Given the description of an element on the screen output the (x, y) to click on. 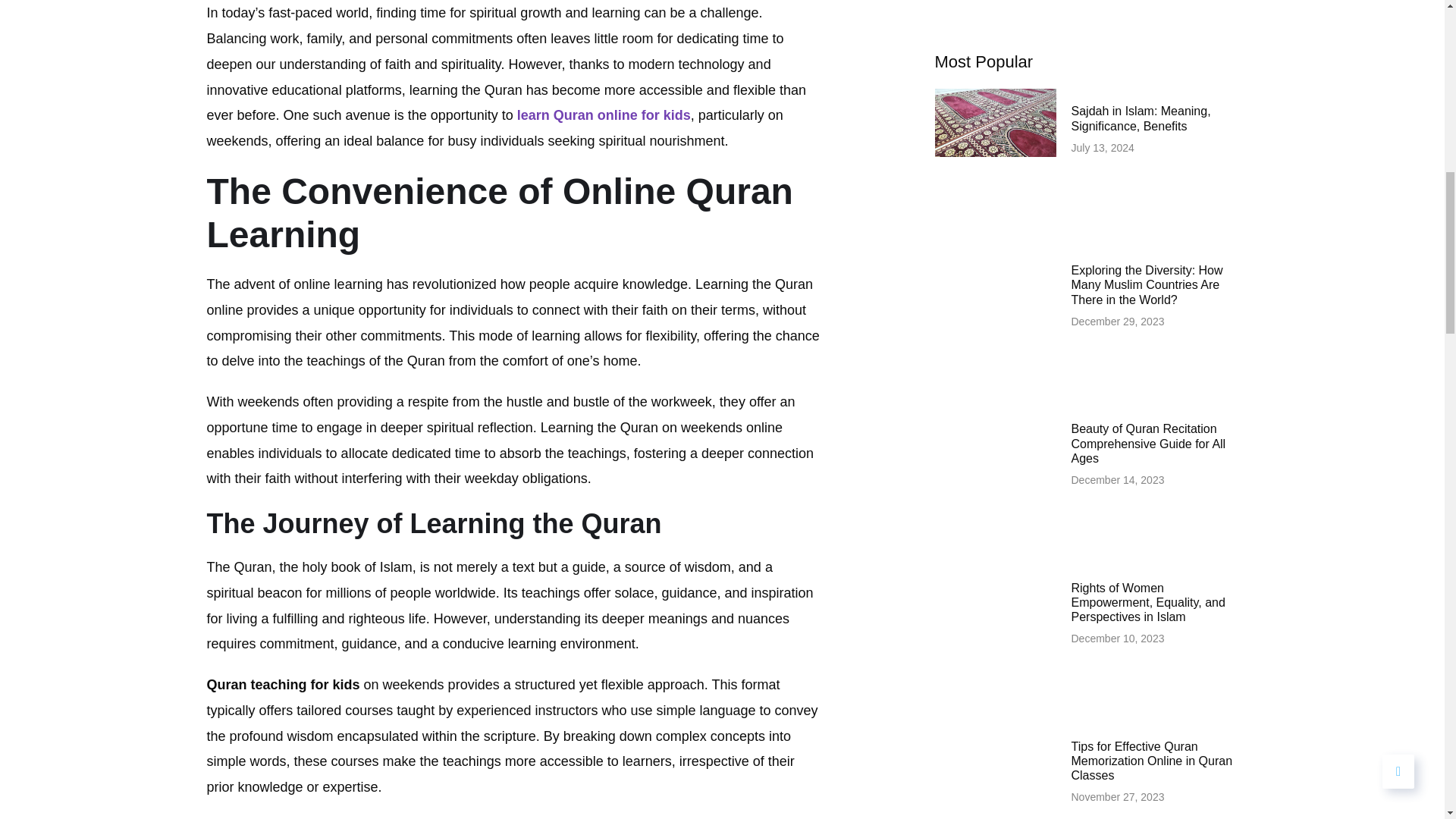
Sajdah in Islam: Meaning, Significance, Benefits (1139, 117)
Beauty of Quran Recitation Comprehensive Guide for All Ages (1147, 443)
learn Quran online for kids (603, 114)
